Given the description of an element on the screen output the (x, y) to click on. 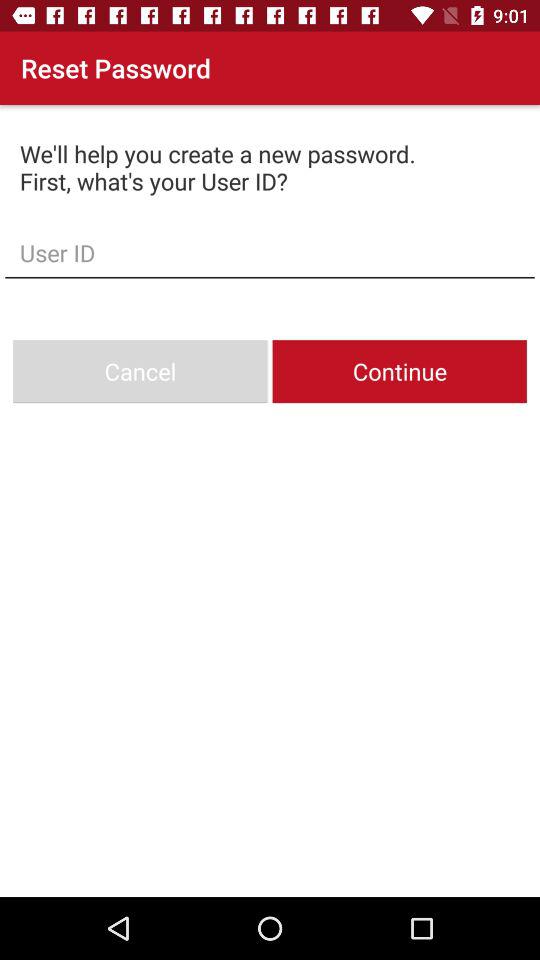
choose the icon next to cancel (399, 371)
